Given the description of an element on the screen output the (x, y) to click on. 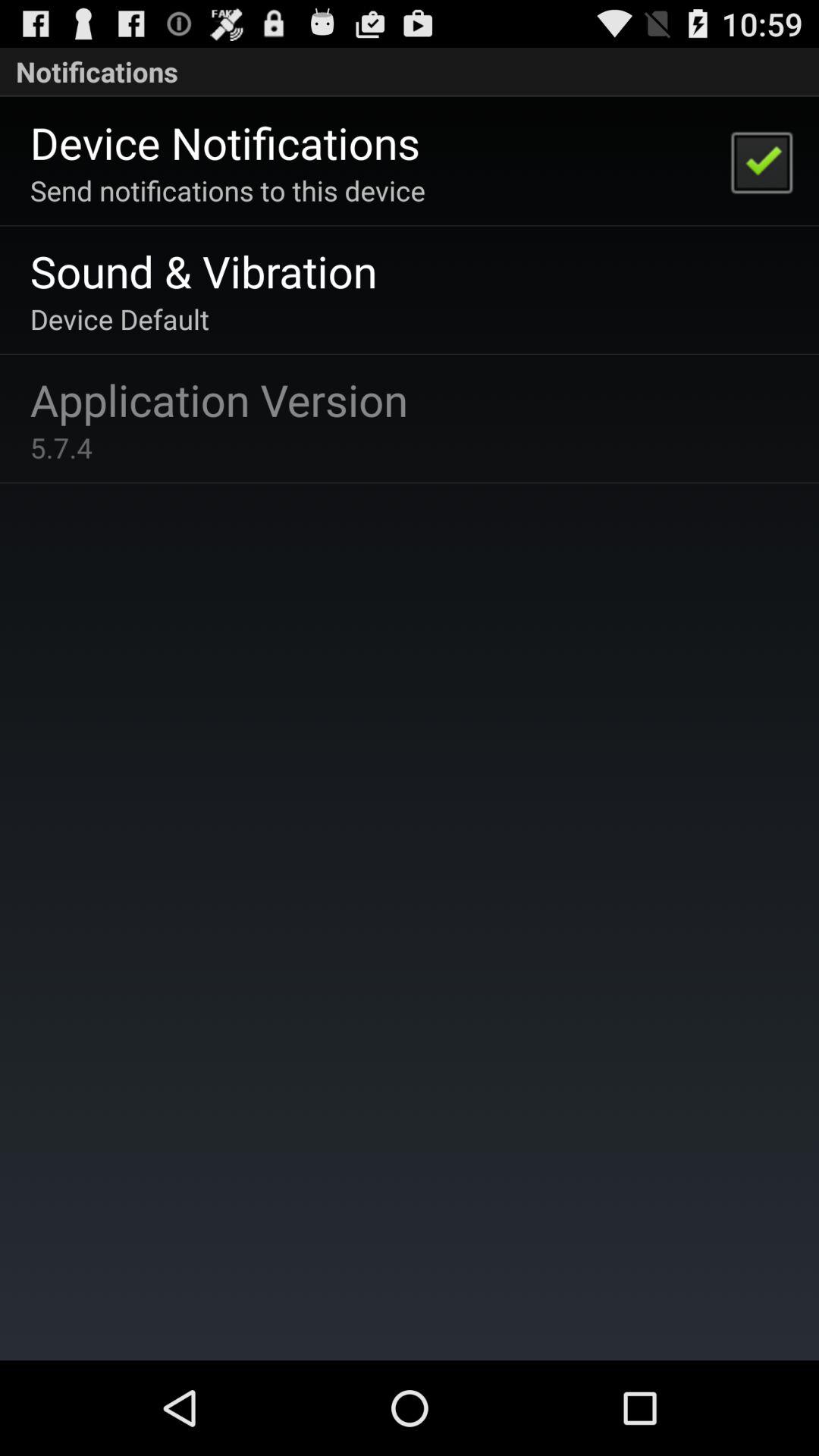
click device default item (119, 318)
